Given the description of an element on the screen output the (x, y) to click on. 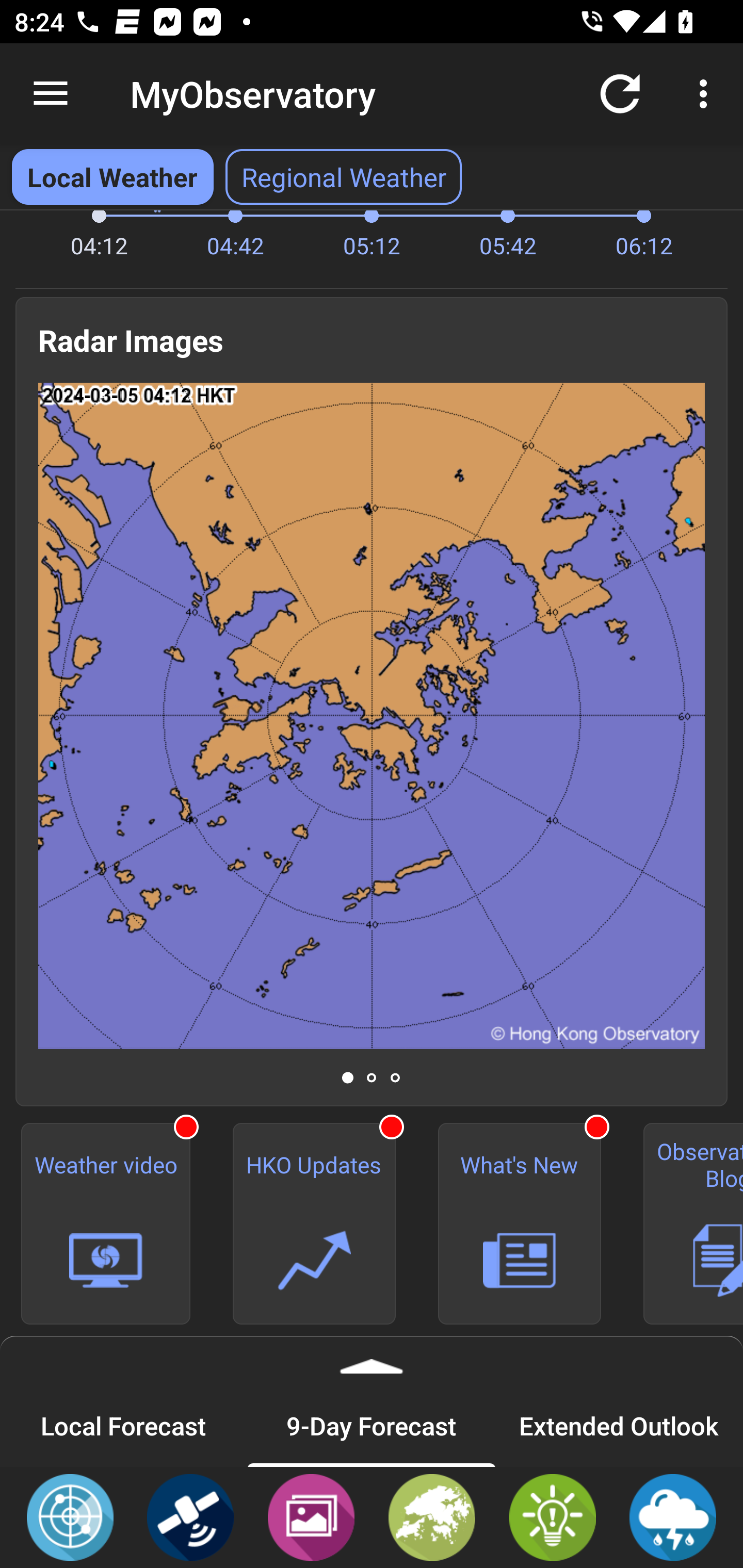
Navigate up (50, 93)
Refresh (619, 93)
More options (706, 93)
Local Weather Local Weather selected (112, 176)
Regional Weather Select Regional Weather (343, 176)
Radar Images 64 km (371, 715)
Weather video 1 unread message(s) (105, 1223)
HKO Updates 1 unread message(s) (313, 1223)
What's New 1 unread message(s) (519, 1223)
Observatory's
 Blog (682, 1223)
Expand (371, 1358)
Local Forecast (123, 1424)
Extended Outlook (619, 1424)
Radar Images (69, 1516)
Satellite Images (190, 1516)
Weather Photos (310, 1516)
Regional Weather (431, 1516)
Weather Tips (551, 1516)
Loc-based Rainfall & Lightning Forecast (672, 1516)
